Given the description of an element on the screen output the (x, y) to click on. 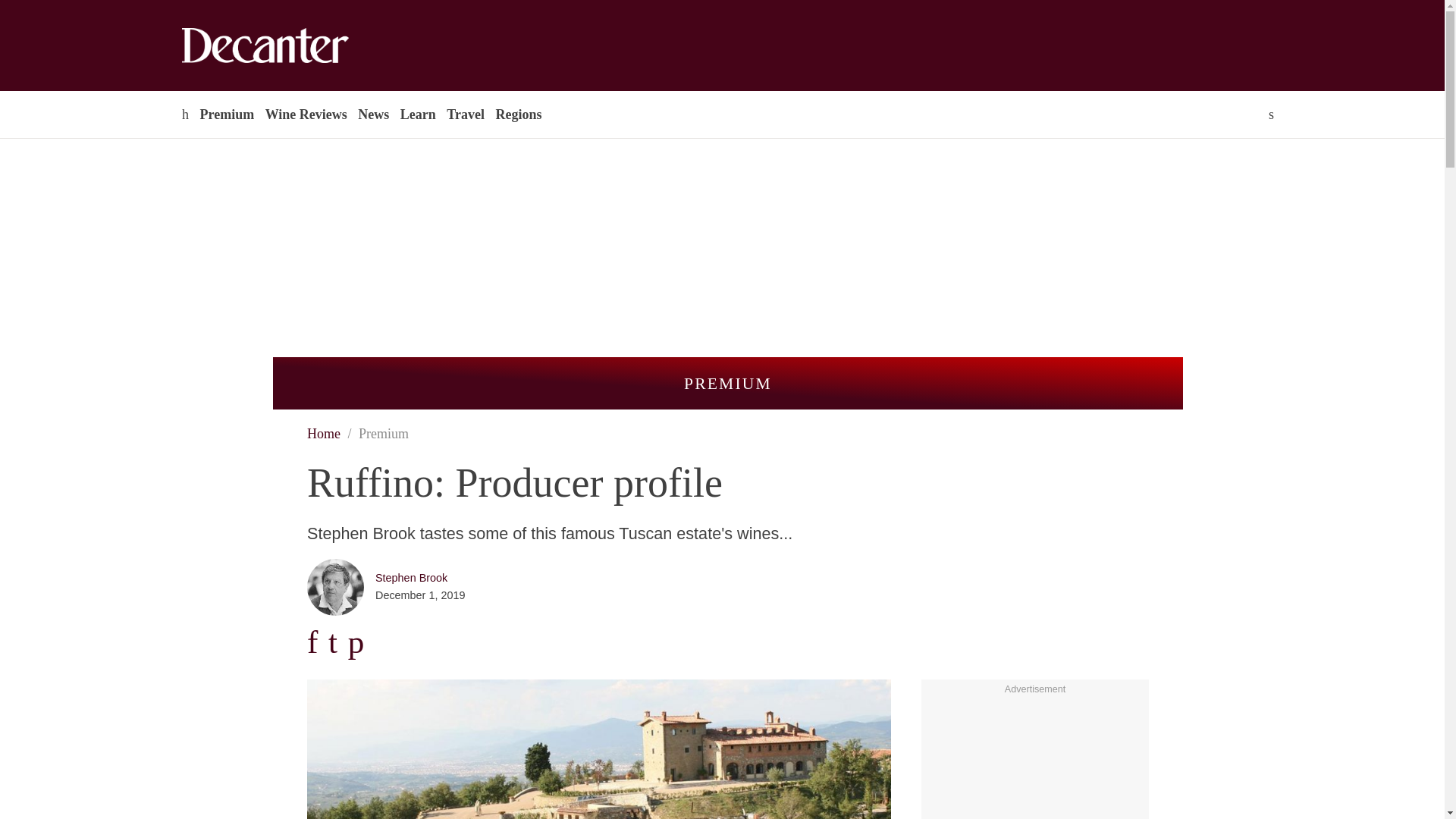
Wine Reviews (306, 114)
Premium (226, 114)
Learn (417, 114)
Decanter (297, 45)
Travel (464, 114)
